Given the description of an element on the screen output the (x, y) to click on. 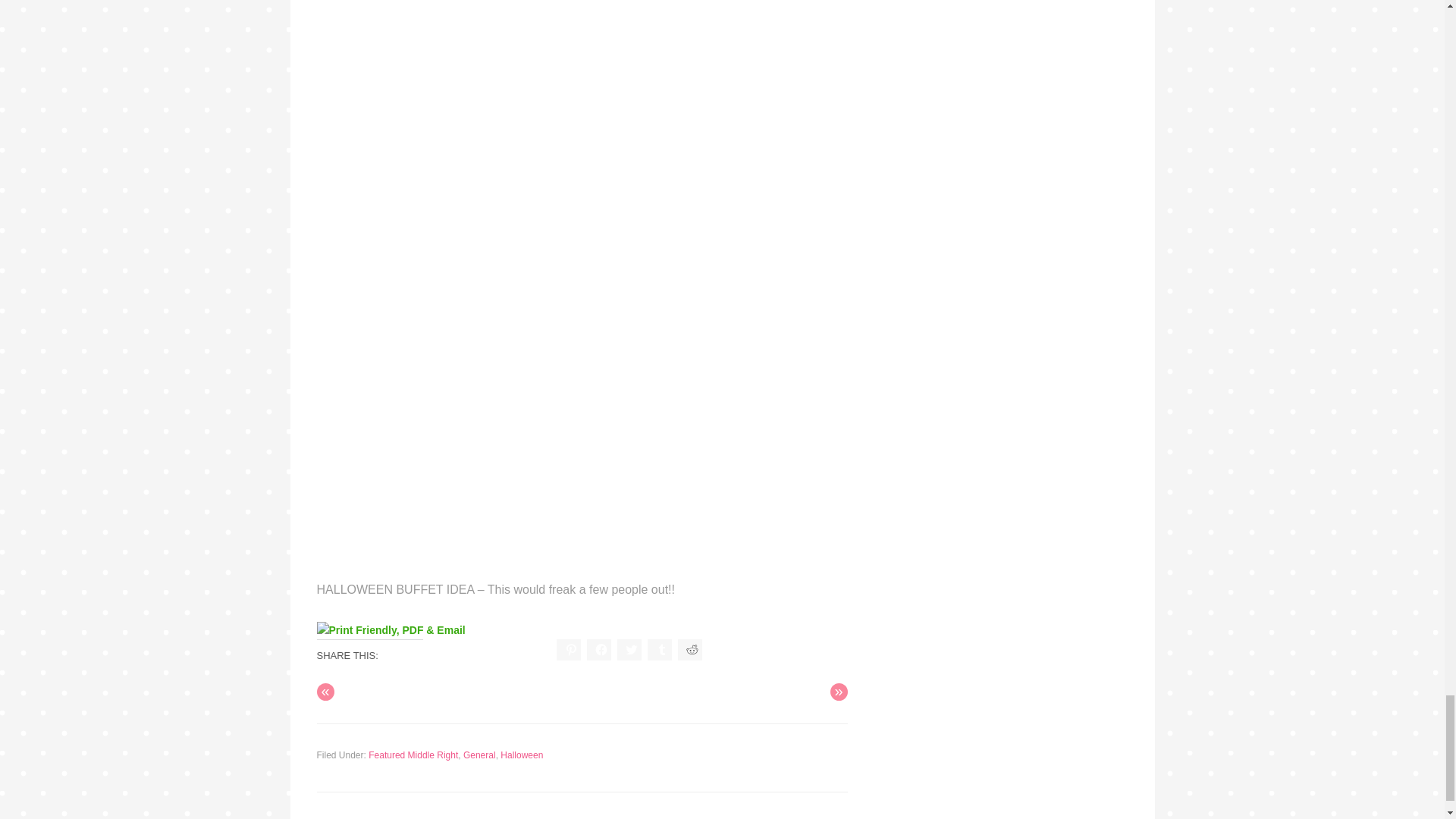
Previous Post: Rainbow Candy Skewers Snacks (325, 692)
Click to share on Pinterest (568, 649)
Click to share on Facebook (598, 649)
Click to share on Twitter (629, 649)
Click to share on Reddit (689, 649)
Click to share on Tumblr (659, 649)
Next Post: Popsicle Stick Monsters (838, 692)
